Given the description of an element on the screen output the (x, y) to click on. 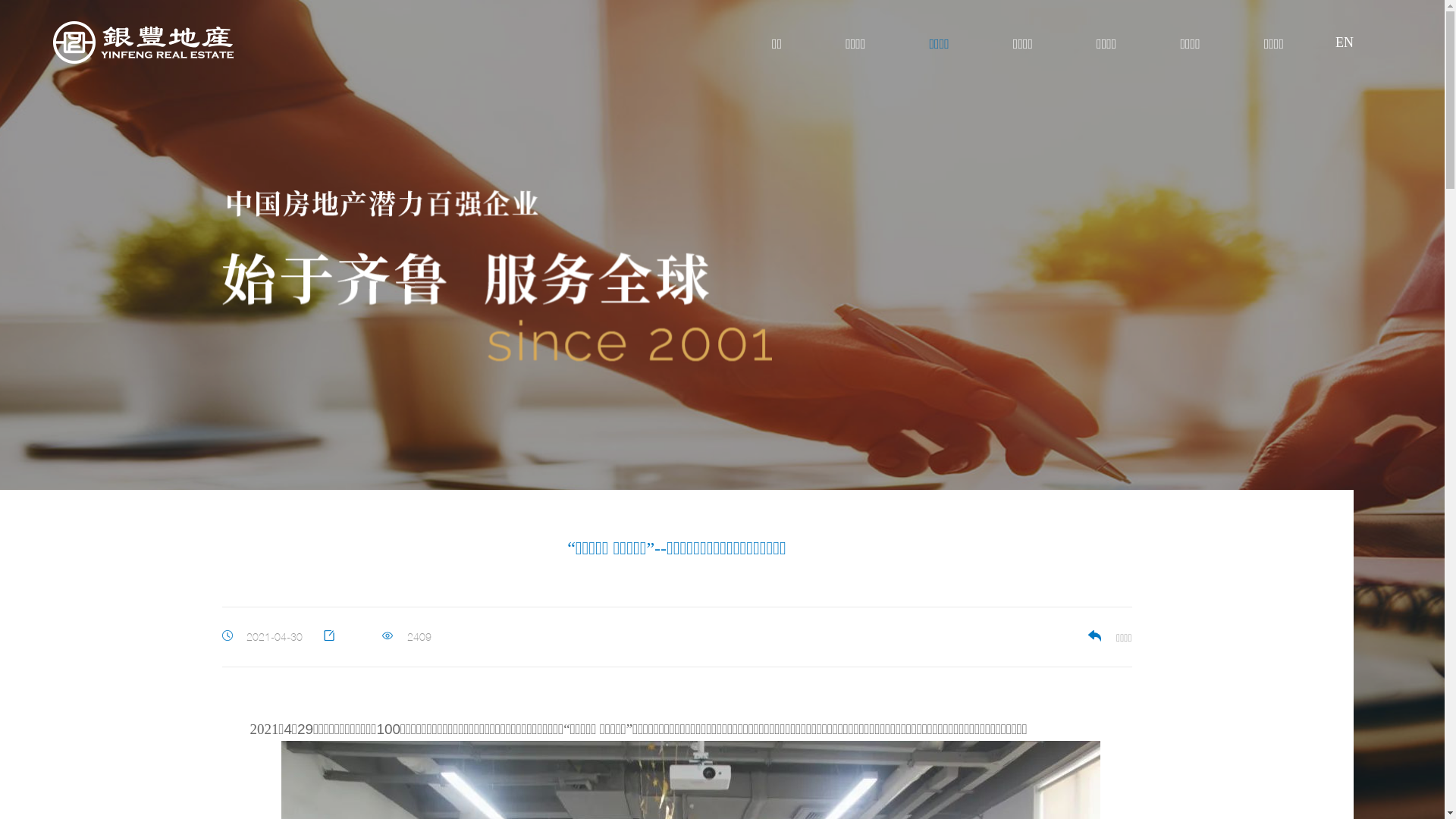
EN Element type: text (1334, 43)
